Given the description of an element on the screen output the (x, y) to click on. 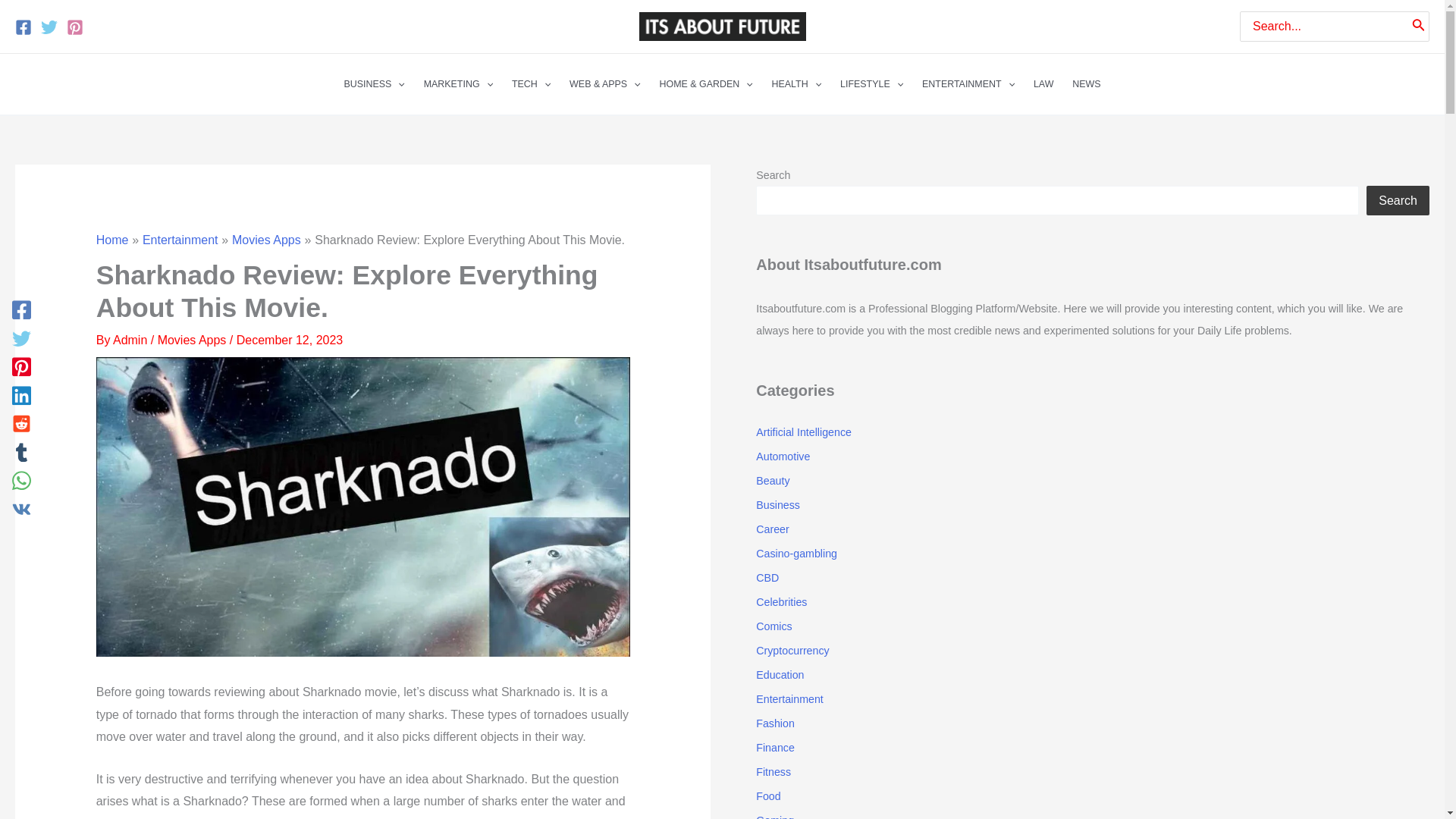
HEALTH (795, 84)
LIFESTYLE (871, 84)
TECH (530, 84)
ENTERTAINMENT (968, 84)
View all posts by Admin (132, 339)
BUSINESS (373, 84)
MARKETING (457, 84)
